Given the description of an element on the screen output the (x, y) to click on. 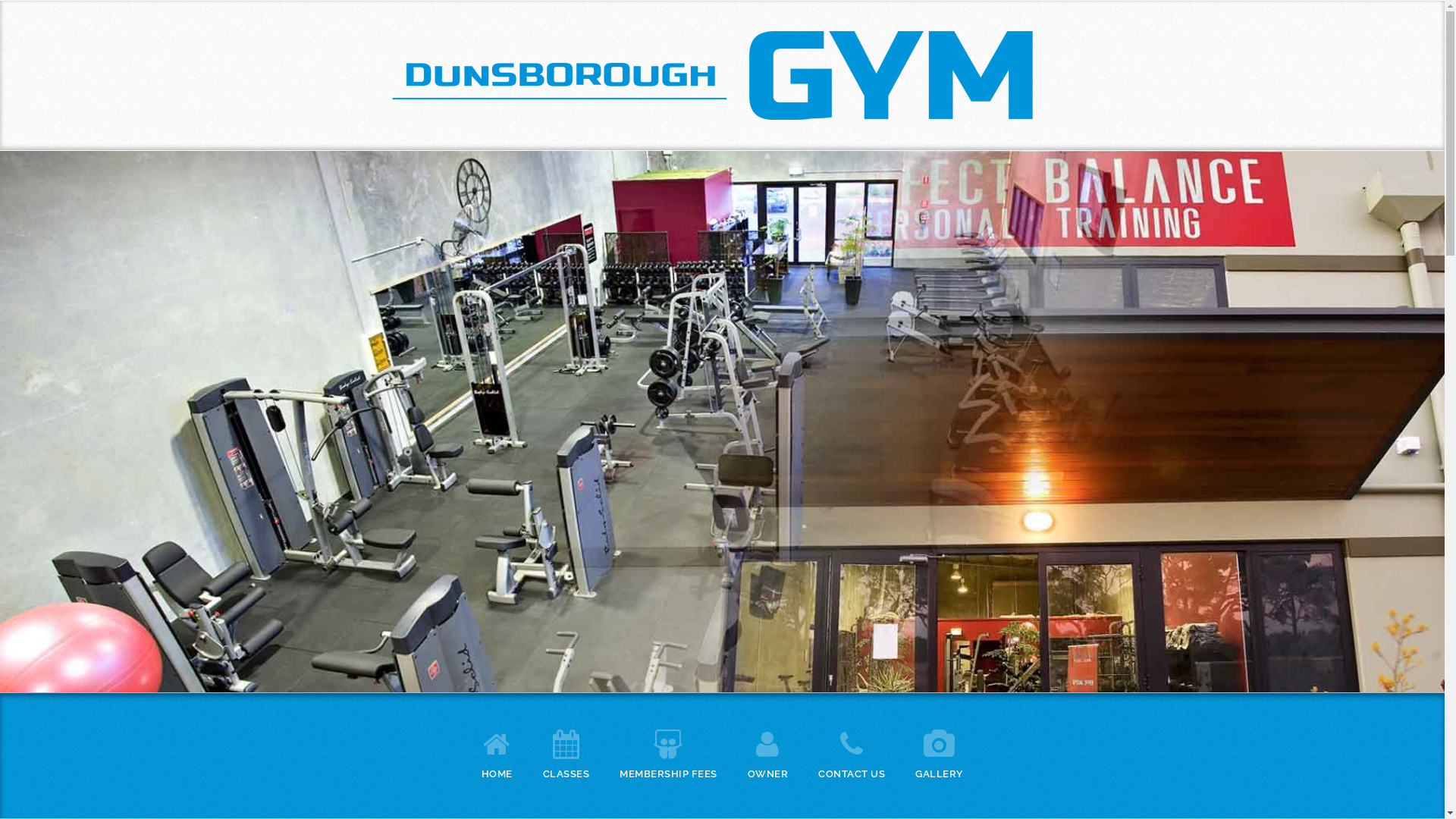
GALLERY Element type: text (939, 751)
HOME Element type: text (495, 751)
CLASSES Element type: text (565, 751)
MEMBERSHIP FEES Element type: text (668, 751)
CONTACT US Element type: text (851, 751)
OWNER Element type: text (767, 751)
